Given the description of an element on the screen output the (x, y) to click on. 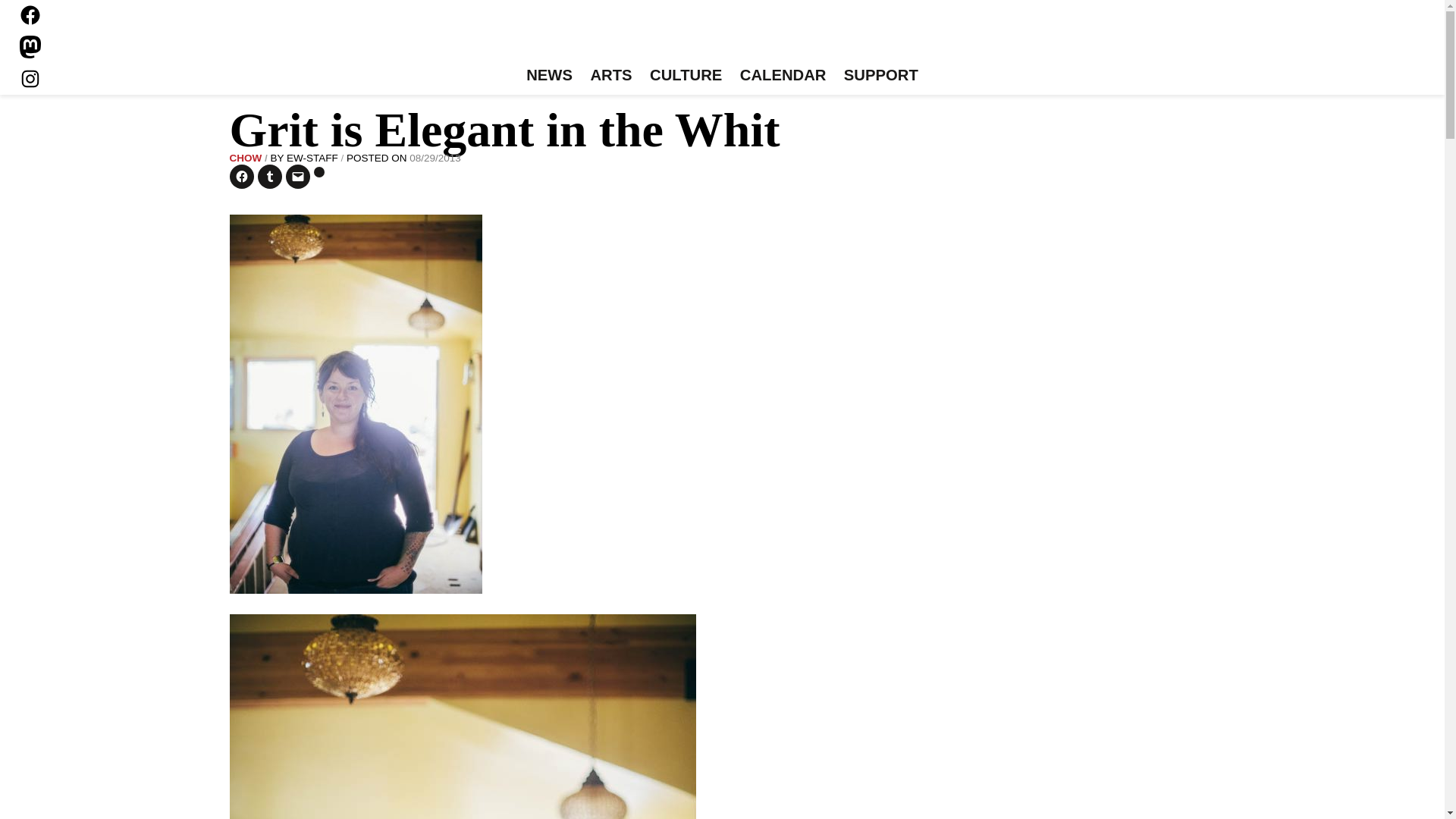
Instagram (30, 78)
Click to email a link to a friend (296, 176)
NEWS (548, 75)
CULTURE (685, 75)
Click to share on Tumblr (269, 176)
ARTS (611, 75)
SUPPORT (880, 75)
CALENDAR (782, 75)
Click to share on Facebook (240, 176)
Mastodon (30, 47)
Eugene Weekly (721, 37)
Click to print (319, 172)
Facebook (30, 15)
